Given the description of an element on the screen output the (x, y) to click on. 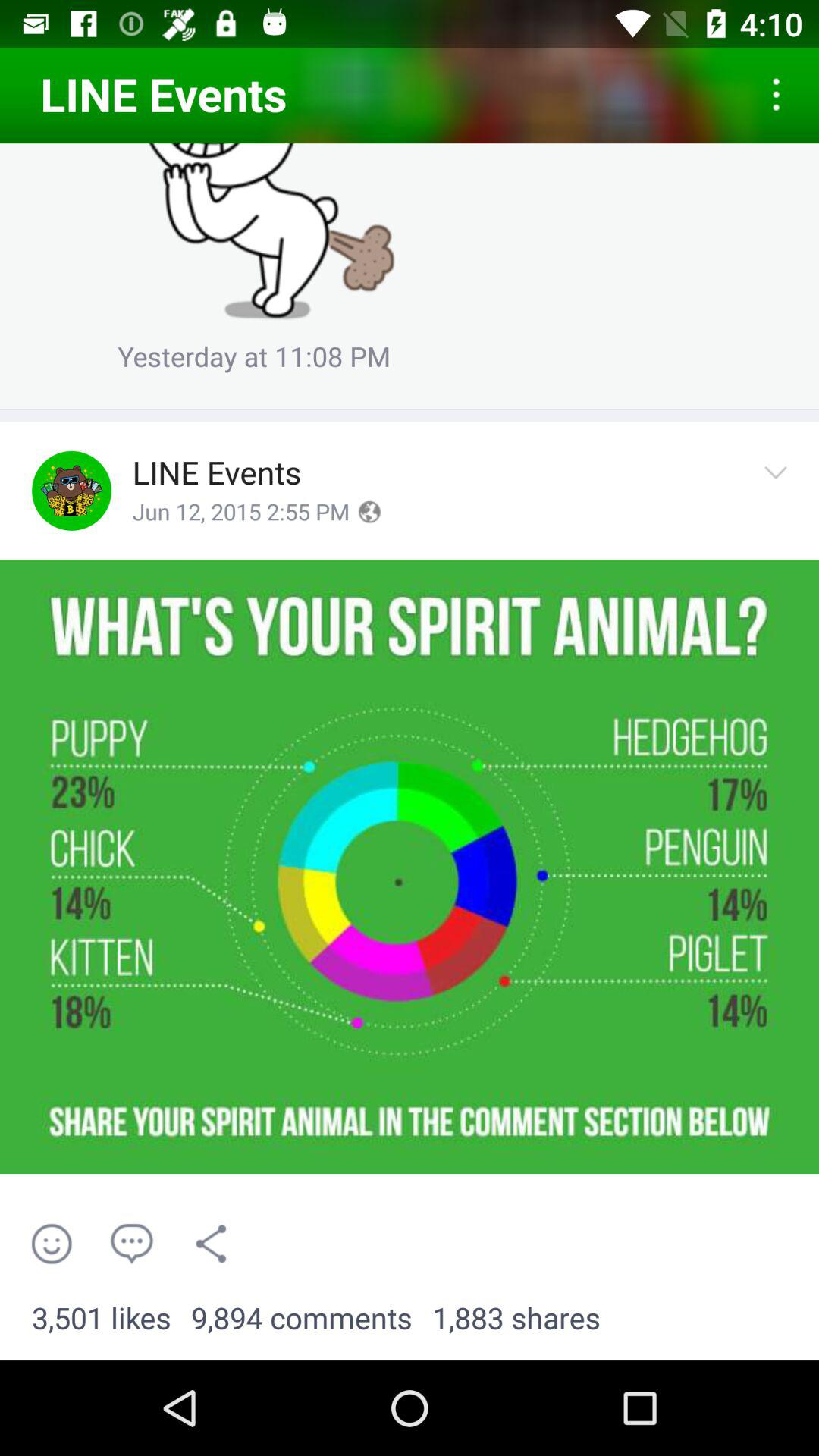
press the icon below the yesterday at 11 icon (409, 409)
